Given the description of an element on the screen output the (x, y) to click on. 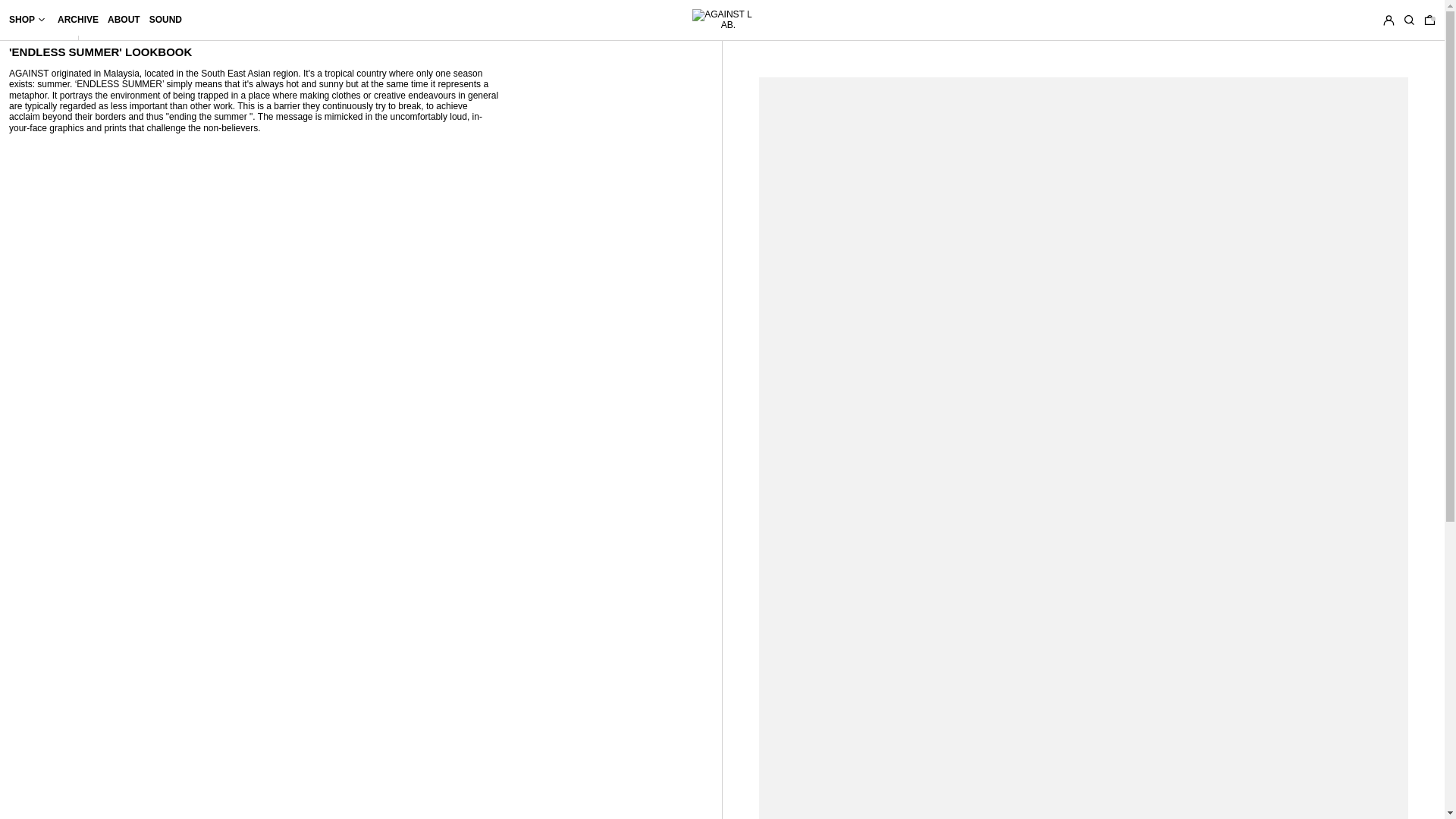
SOUND (165, 20)
LOG IN (1388, 20)
SEARCH (1409, 20)
SHOP (28, 20)
ABOUT (123, 20)
ARCHIVE (78, 20)
